Given the description of an element on the screen output the (x, y) to click on. 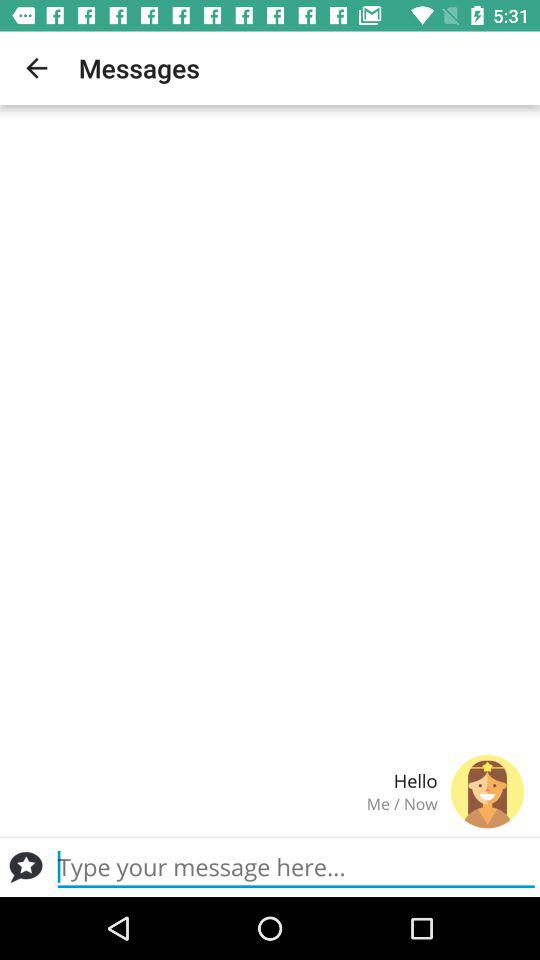
jump until hello item (226, 780)
